Given the description of an element on the screen output the (x, y) to click on. 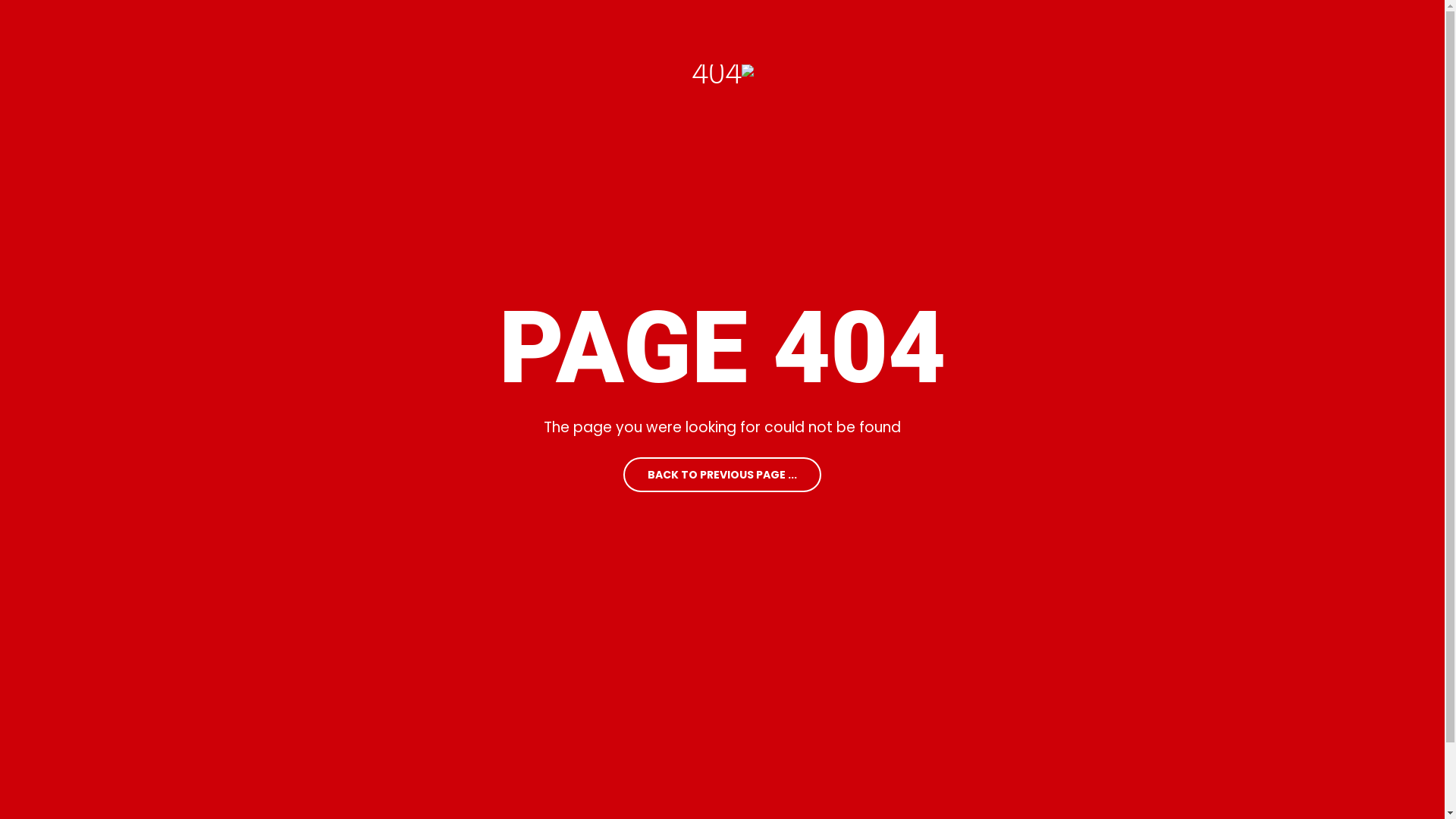
Current Event Element type: text (888, 671)
ABOUT Element type: text (604, 46)
Terms of Use and Disclaimer Element type: text (1291, 706)
... BACK TO PREVIOUS PAGE Element type: text (722, 474)
Submit Element type: text (455, 450)
LIVING Element type: text (754, 46)
BUSINESS Element type: text (745, 637)
DIRECTORY Element type: text (1142, 46)
Newsletters Element type: text (883, 706)
info@haymarketchamber.org.au Element type: text (162, 331)
CONTACT US Element type: text (1315, 46)
CULTURE Element type: text (827, 46)
Members Benefits Element type: text (1072, 671)
NEWS & NEWSLETTERS Element type: text (1016, 46)
CONTACT US Element type: text (605, 709)
MEMBERS Element type: text (1229, 46)
ABOUT US Element type: text (598, 673)
Members Application Element type: text (1078, 706)
Privacy Policy Element type: text (1256, 671)
BUSINESS Element type: text (680, 46)
HOME Element type: text (540, 46)
EVENTS Element type: text (902, 46)
CULTURE Element type: text (743, 709)
LIVING Element type: text (738, 673)
HOME Element type: text (588, 637)
